Given the description of an element on the screen output the (x, y) to click on. 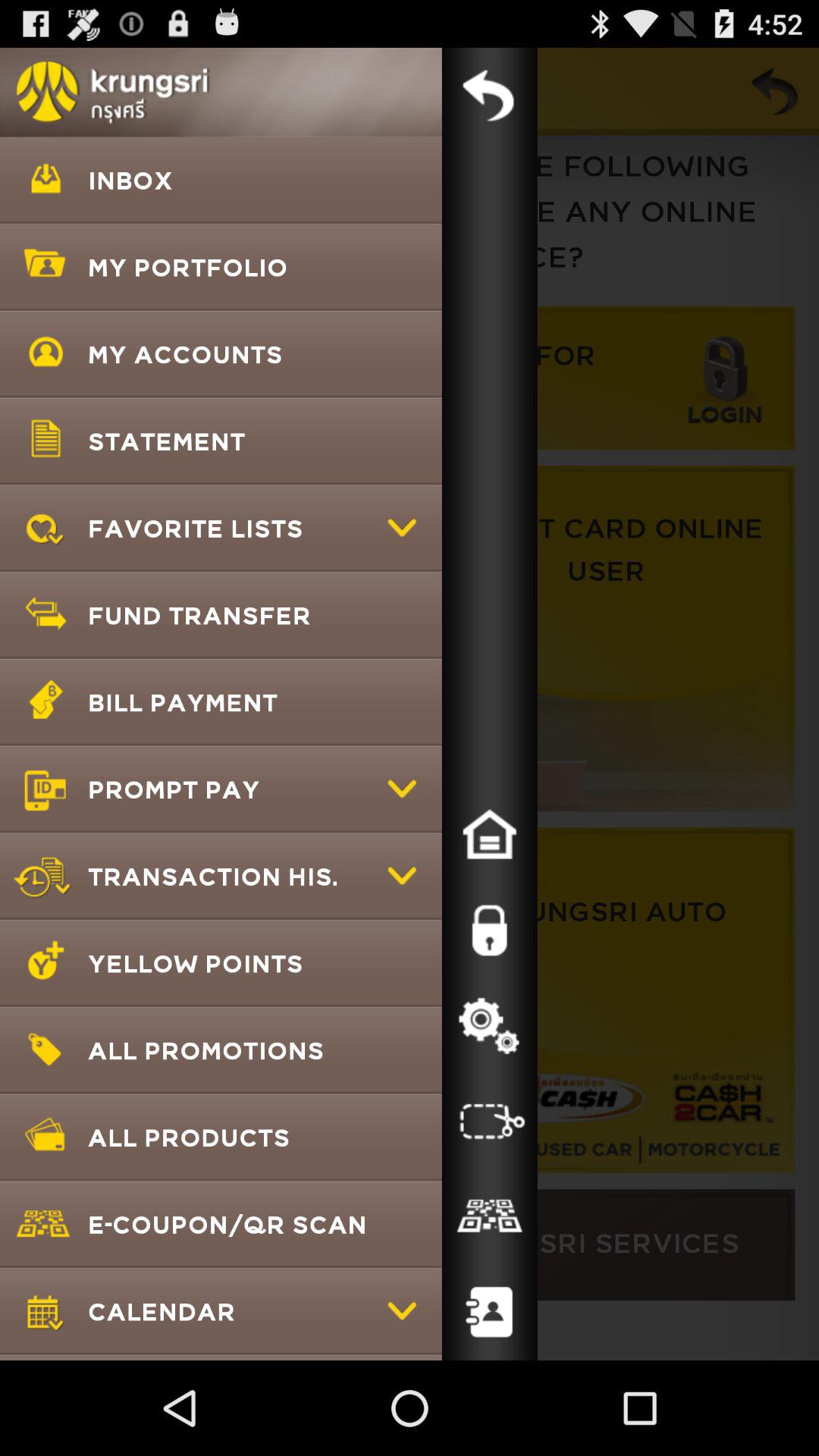
settings (489, 1025)
